Given the description of an element on the screen output the (x, y) to click on. 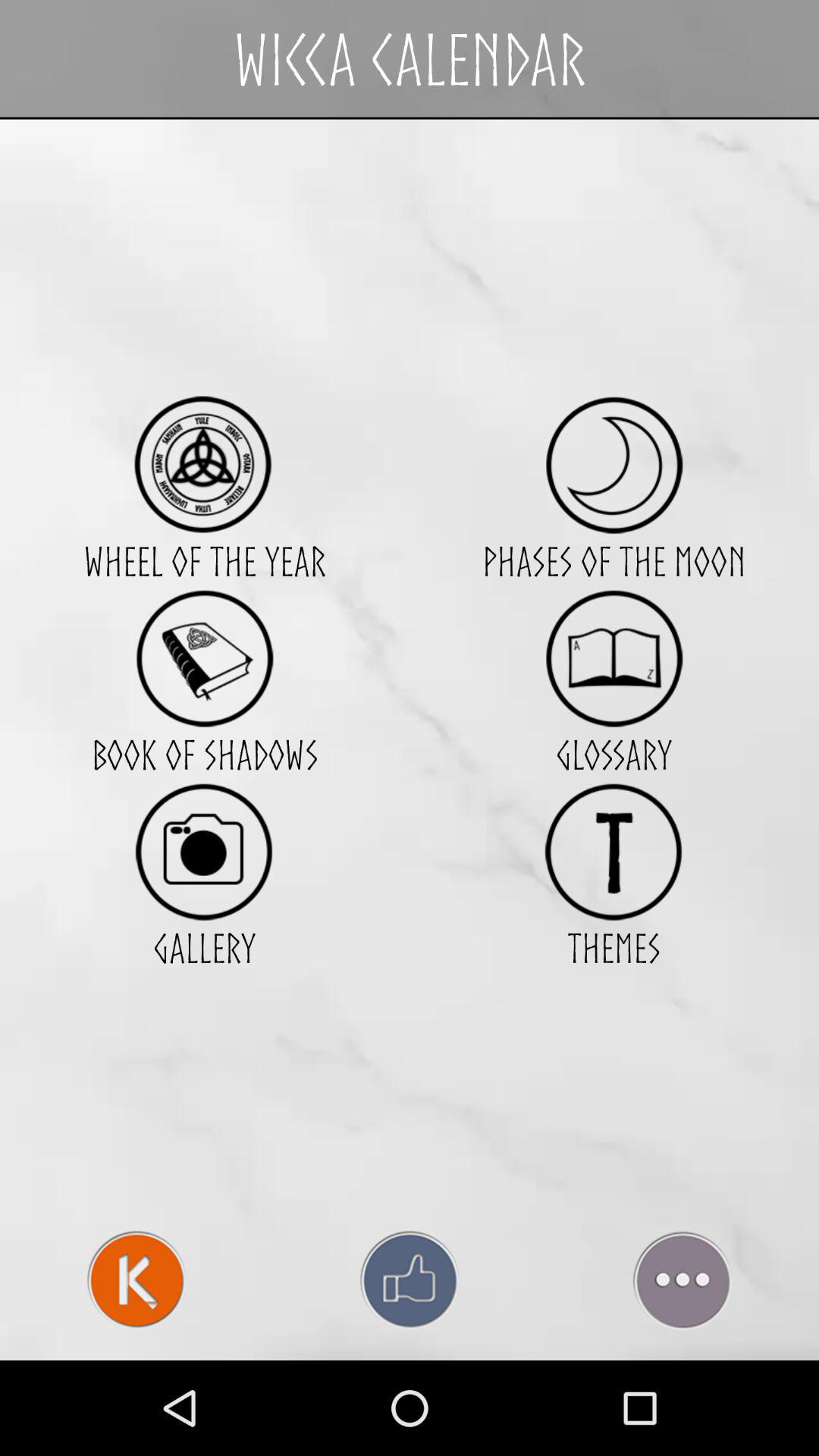
select photo gallery (204, 851)
